Given the description of an element on the screen output the (x, y) to click on. 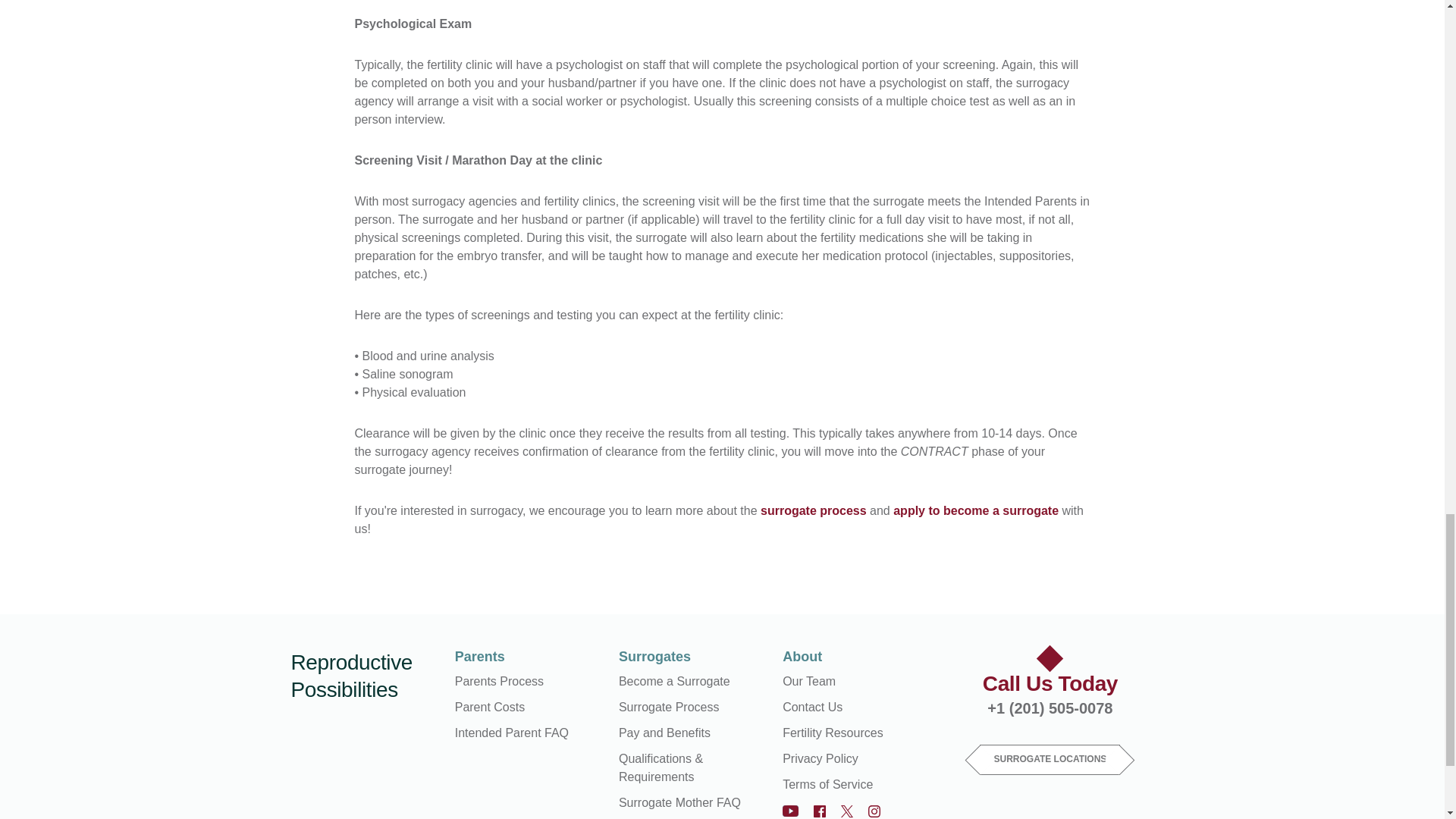
surrogate process (813, 510)
apply to become a surrogate (975, 510)
Reproductive Possibilities (365, 676)
